Given the description of an element on the screen output the (x, y) to click on. 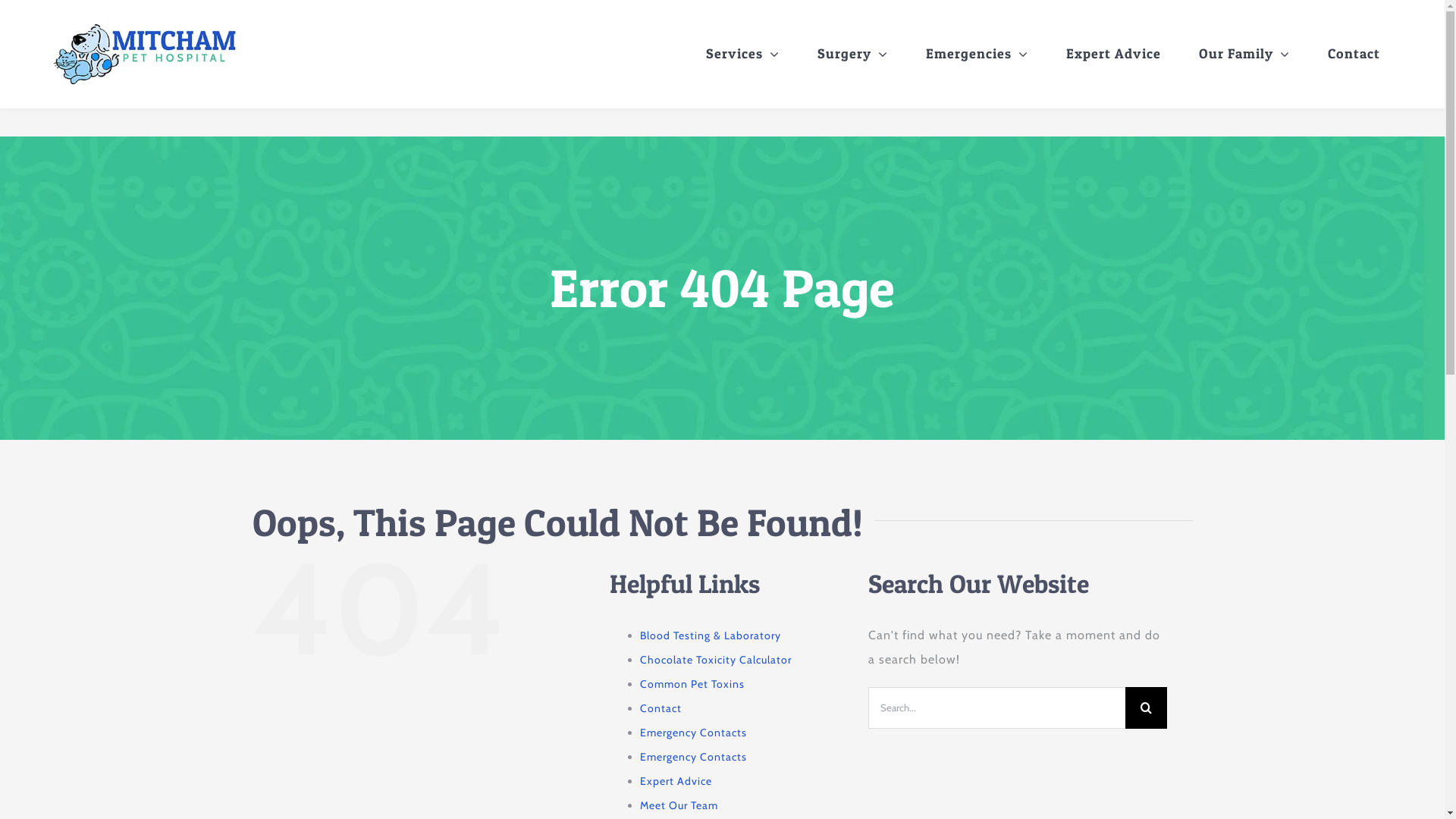
Emergencies Element type: text (976, 53)
Expert Advice Element type: text (676, 780)
Chocolate Toxicity Calculator Element type: text (715, 659)
Blood Testing & Laboratory Element type: text (710, 635)
Common Pet Toxins Element type: text (692, 683)
Our Family Element type: text (1244, 53)
Services Element type: text (742, 53)
Emergency Contacts Element type: text (693, 732)
Emergency Contacts Element type: text (693, 756)
Expert Advice Element type: text (1113, 53)
Meet Our Team Element type: text (679, 805)
Contact Element type: text (1353, 53)
Contact Element type: text (660, 708)
Surgery Element type: text (852, 53)
